Given the description of an element on the screen output the (x, y) to click on. 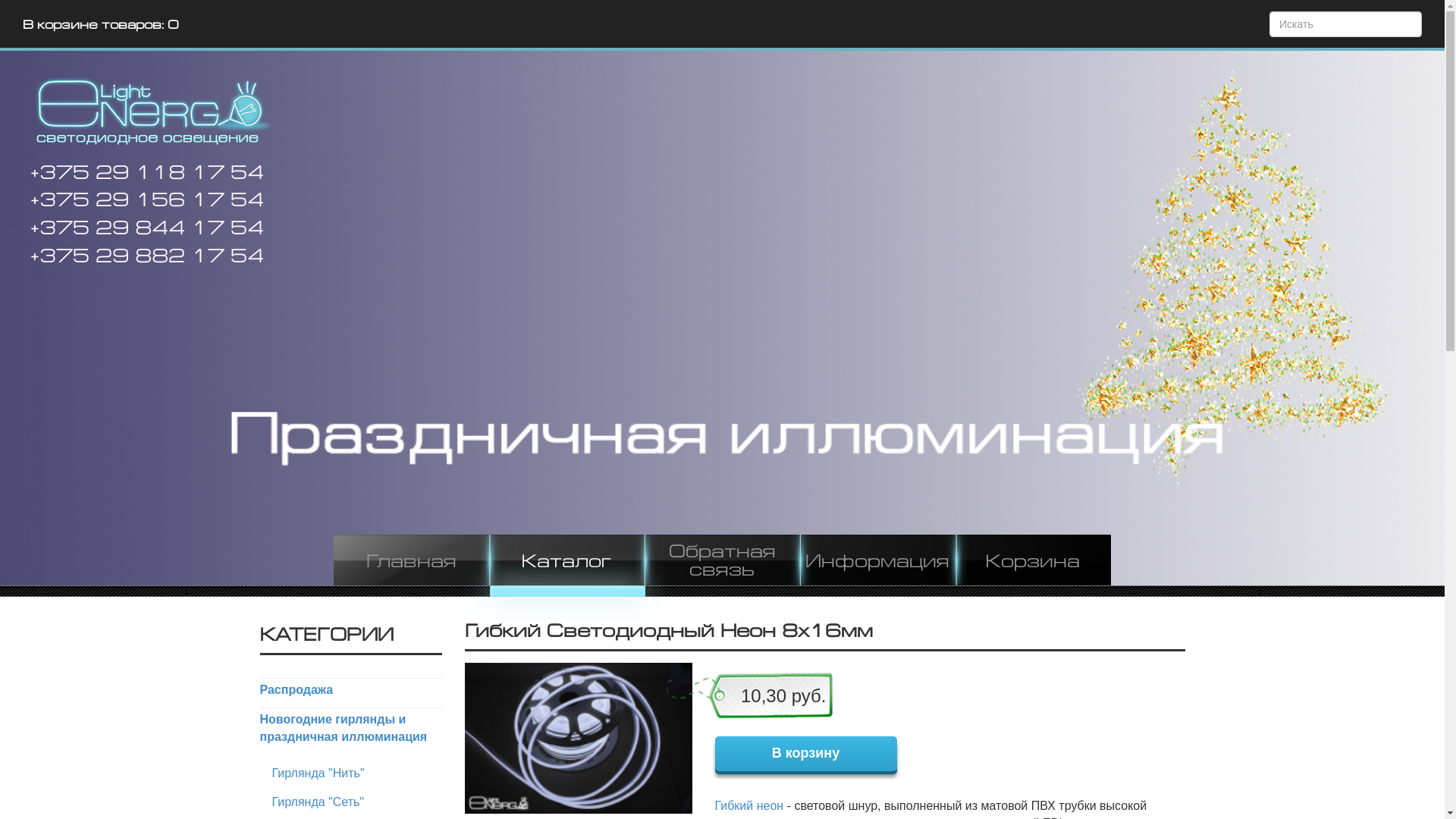
+375 29 156 17 54 Element type: text (140, 199)
+375 29 118 17 54 Element type: text (140, 172)
+375 29 844 17 54 Element type: text (140, 227)
+375 29 882 17 54 Element type: text (140, 255)
